Given the description of an element on the screen output the (x, y) to click on. 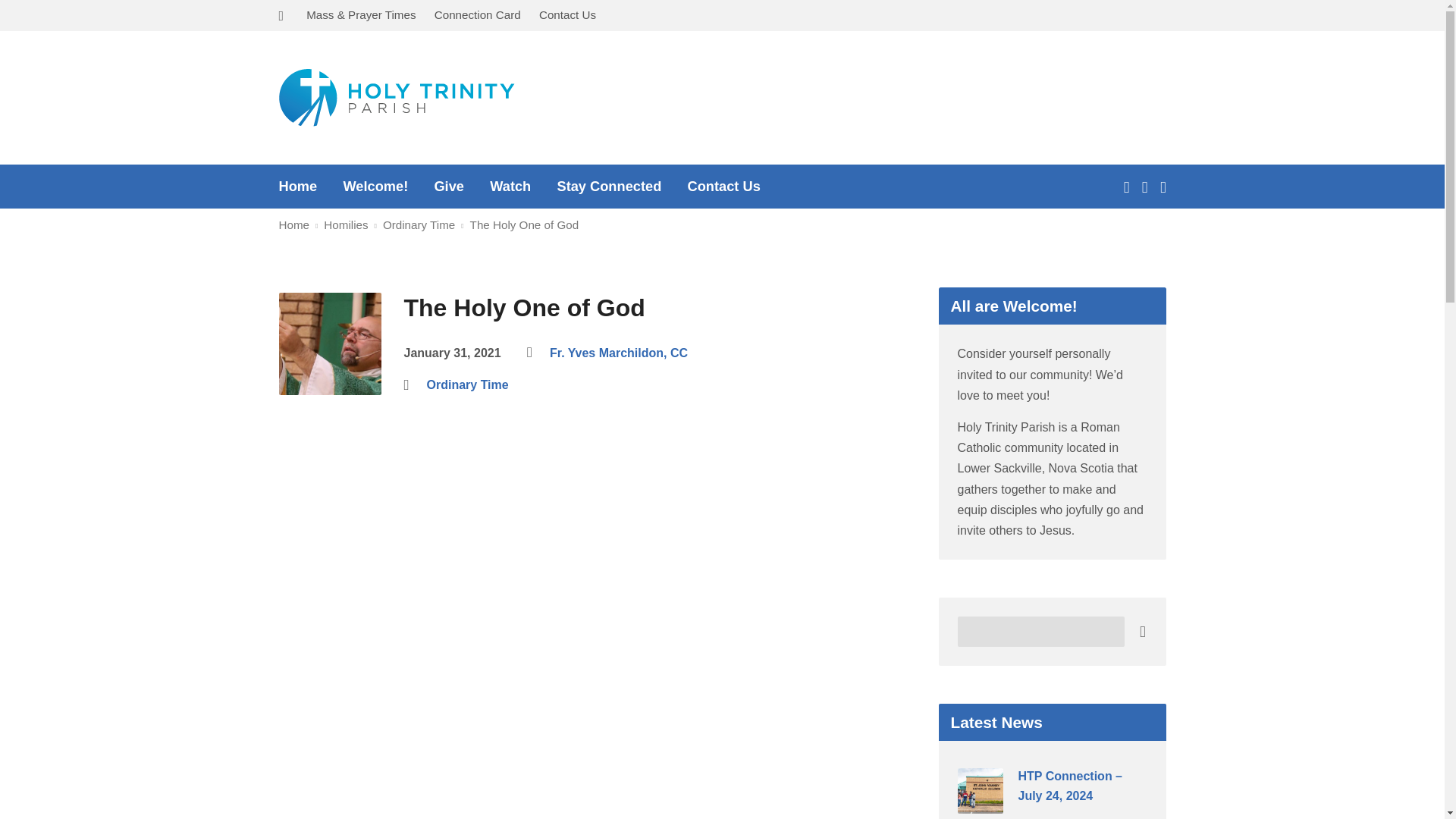
Contact Us (723, 186)
Connection Card (477, 14)
Home (298, 186)
Stay Connected (608, 186)
Give (448, 186)
Watch (510, 186)
Home (294, 224)
Contact Us (566, 14)
Welcome! (374, 186)
